Given the description of an element on the screen output the (x, y) to click on. 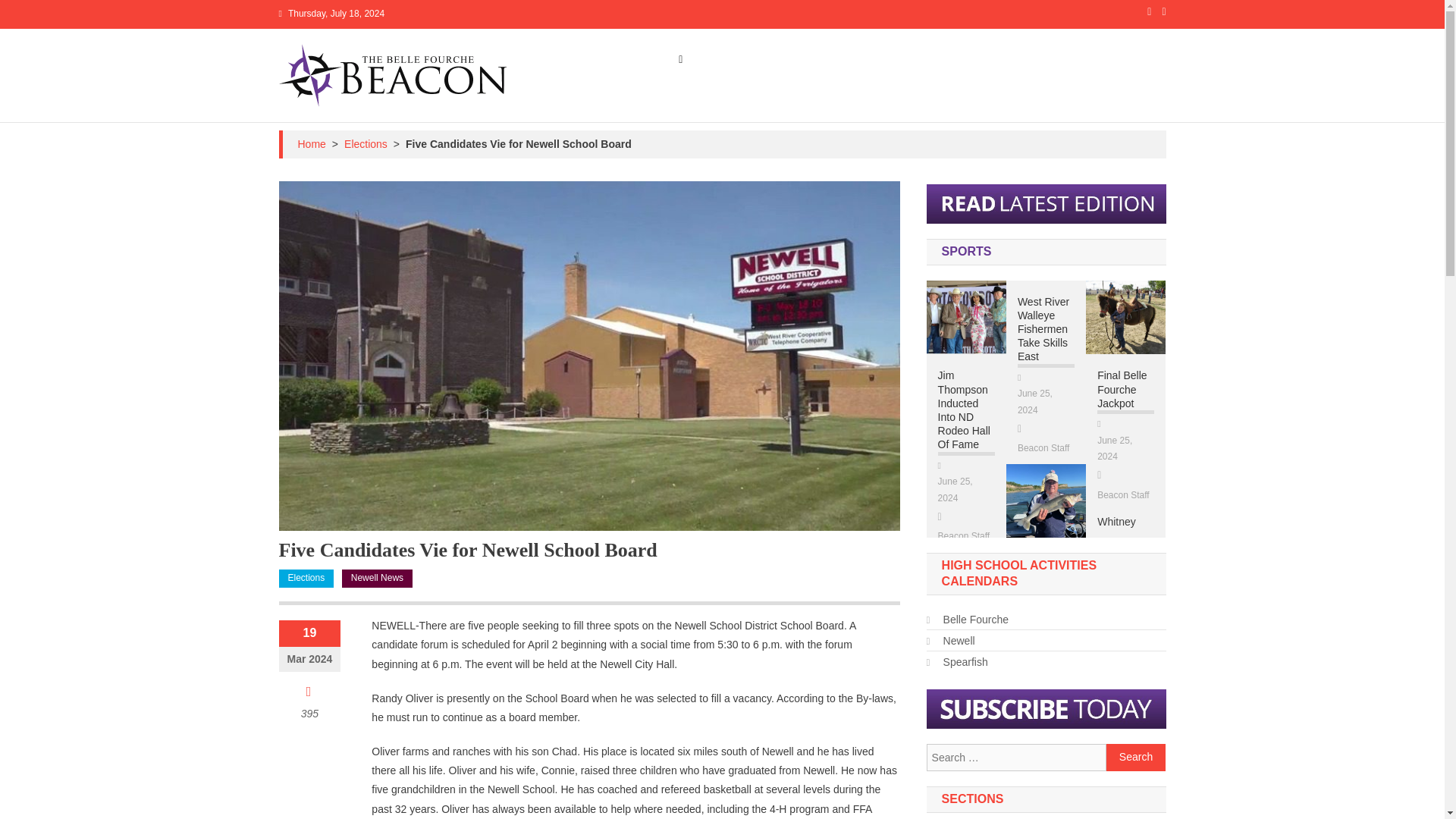
Home (310, 143)
Search (1136, 757)
Print Editions (1121, 59)
More (1045, 59)
Newell News (377, 578)
Elections (306, 578)
Obituaries (983, 59)
News (783, 59)
Sports (838, 59)
Elections (365, 143)
Happenings (906, 59)
Search (1136, 757)
Belle Fourche Beacon (349, 116)
Elections (722, 59)
